Given the description of an element on the screen output the (x, y) to click on. 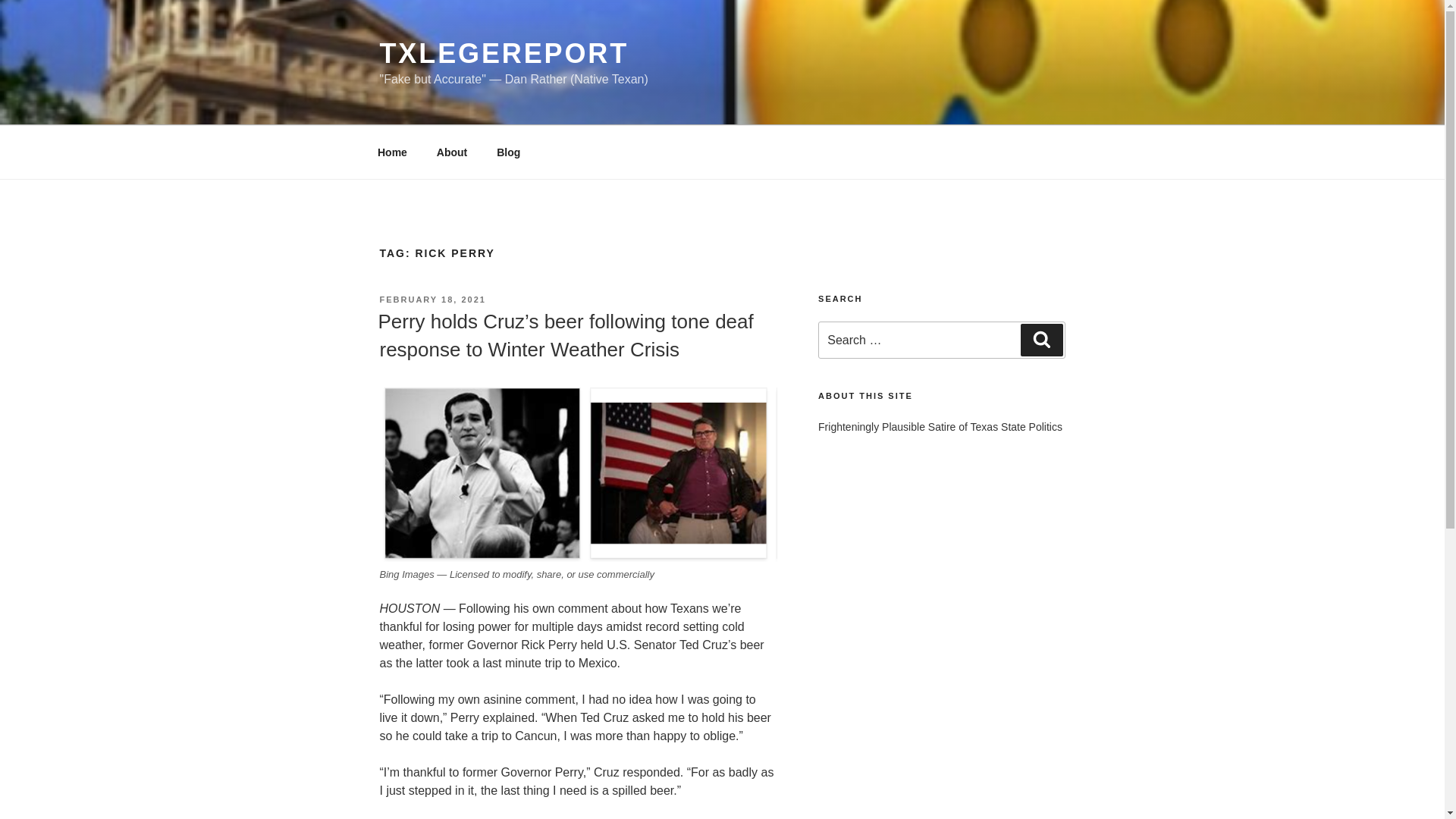
Search (1041, 339)
TXLEGEREPORT (503, 52)
Home (392, 151)
Blog (508, 151)
FEBRUARY 18, 2021 (431, 298)
About (451, 151)
